Given the description of an element on the screen output the (x, y) to click on. 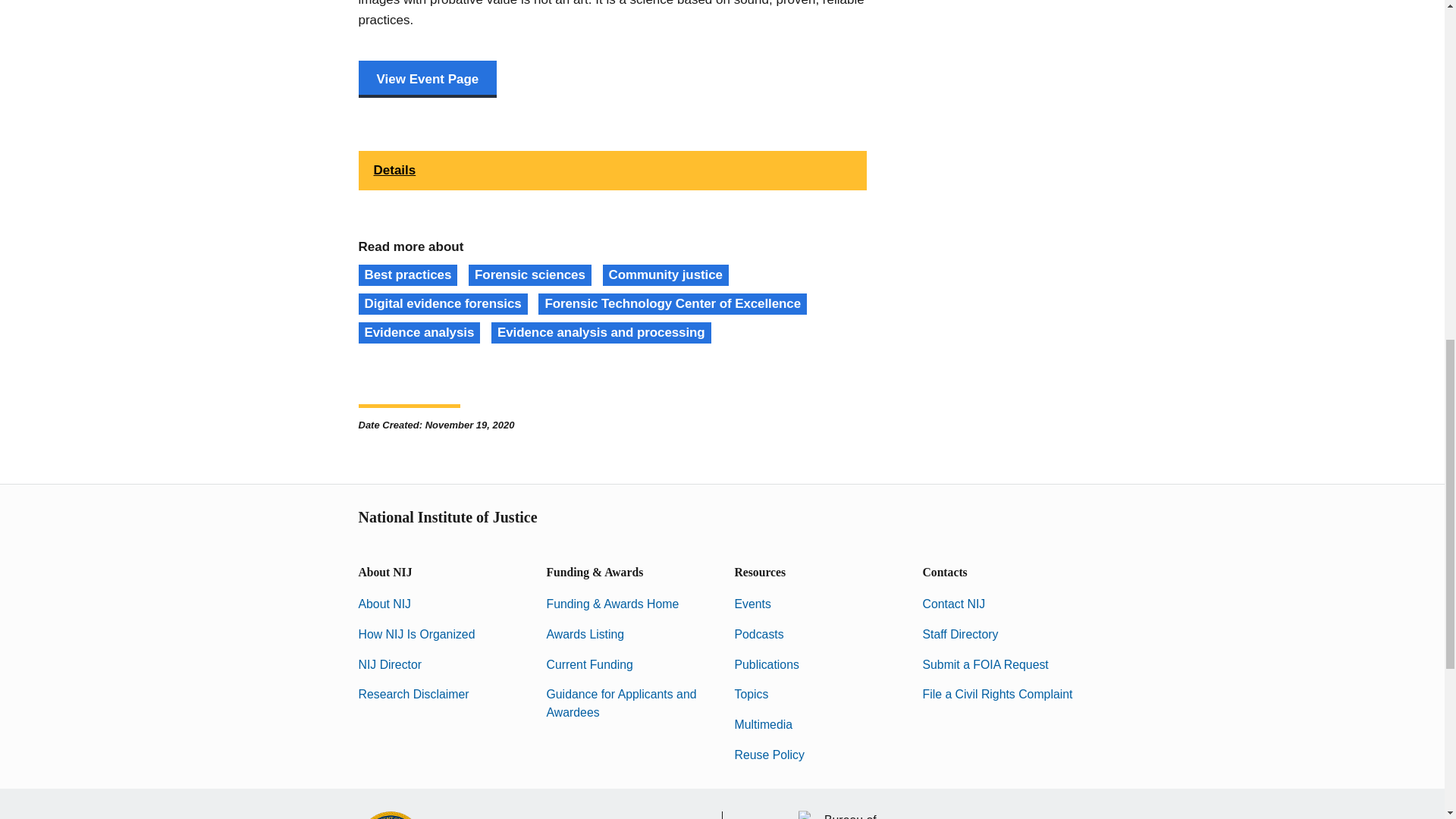
Digital evidence forensics (442, 303)
View Event Page (427, 78)
Evidence analysis and processing (601, 332)
Evidence analysis (419, 332)
Forensic sciences (529, 274)
Details (612, 170)
Community justice (665, 274)
Forensic Technology Center of Excellence (672, 303)
Best practices (407, 274)
